Given the description of an element on the screen output the (x, y) to click on. 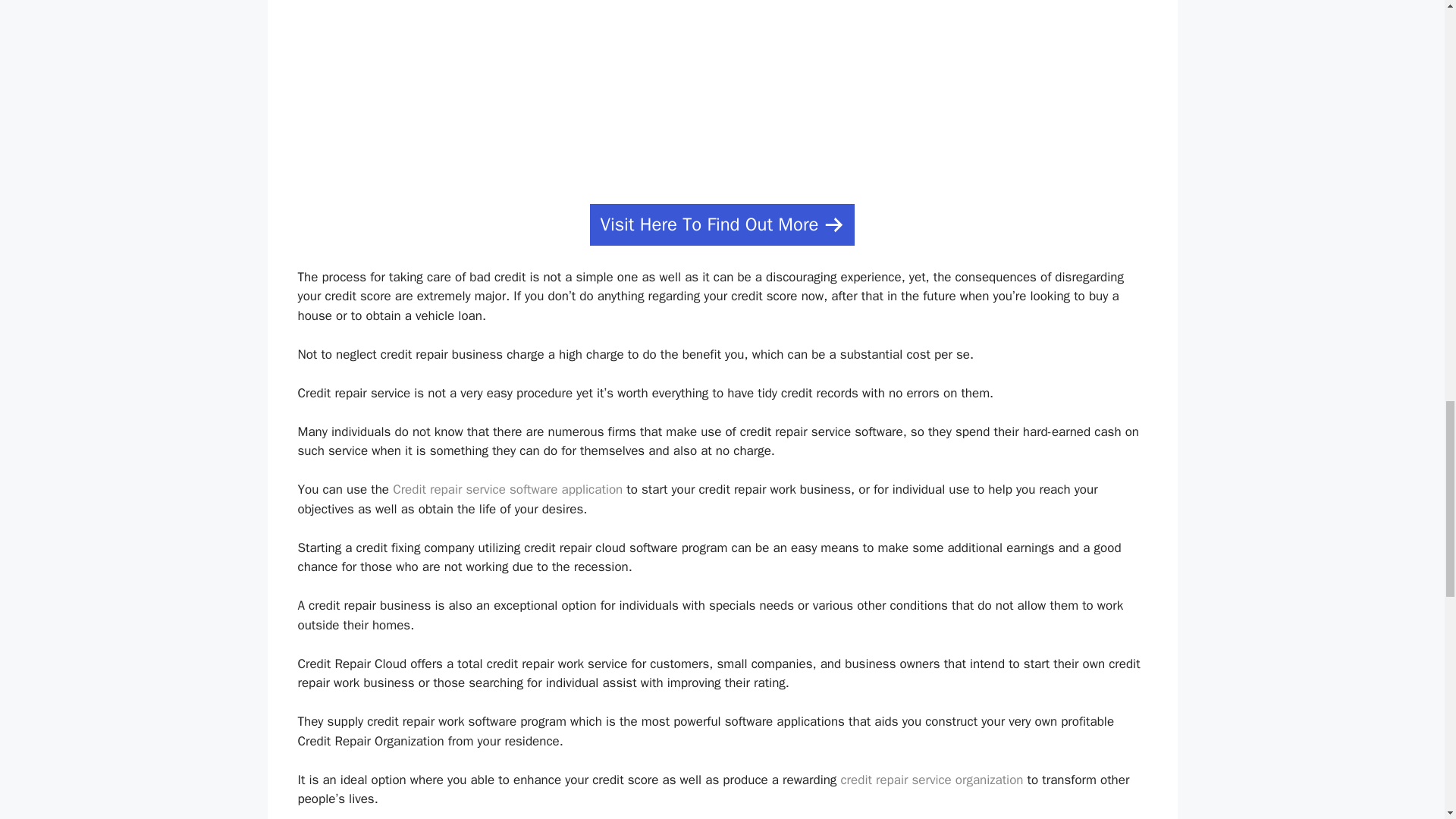
Visit Here To Find Out More (721, 224)
Credit repair service software application (508, 489)
credit repair service organization (931, 779)
